Given the description of an element on the screen output the (x, y) to click on. 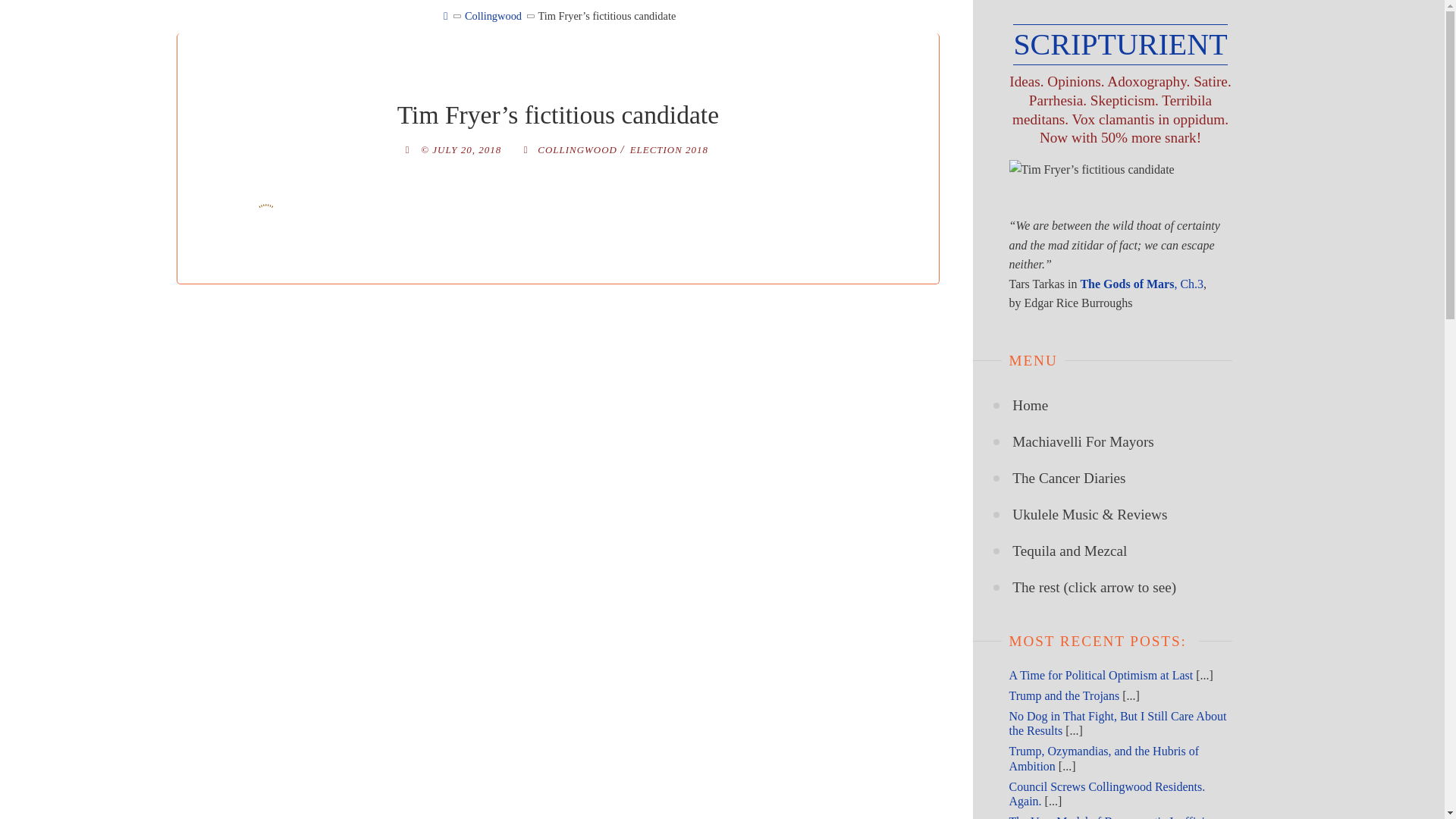
A Time for Political Optimism at Last (1100, 675)
Trump and the Trojans (1064, 695)
Council Screws Collingwood Residents. Again. (1107, 793)
Machiavelli For Mayors (1082, 442)
The Cancer Diaries (1068, 478)
Tequila and Mezcal (1068, 551)
Home (1029, 405)
The Gods of Mars, Ch.3 (1142, 283)
No Dog in That Fight, But I Still Care About the Results (1117, 723)
SCRIPTURIENT (1120, 44)
